Given the description of an element on the screen output the (x, y) to click on. 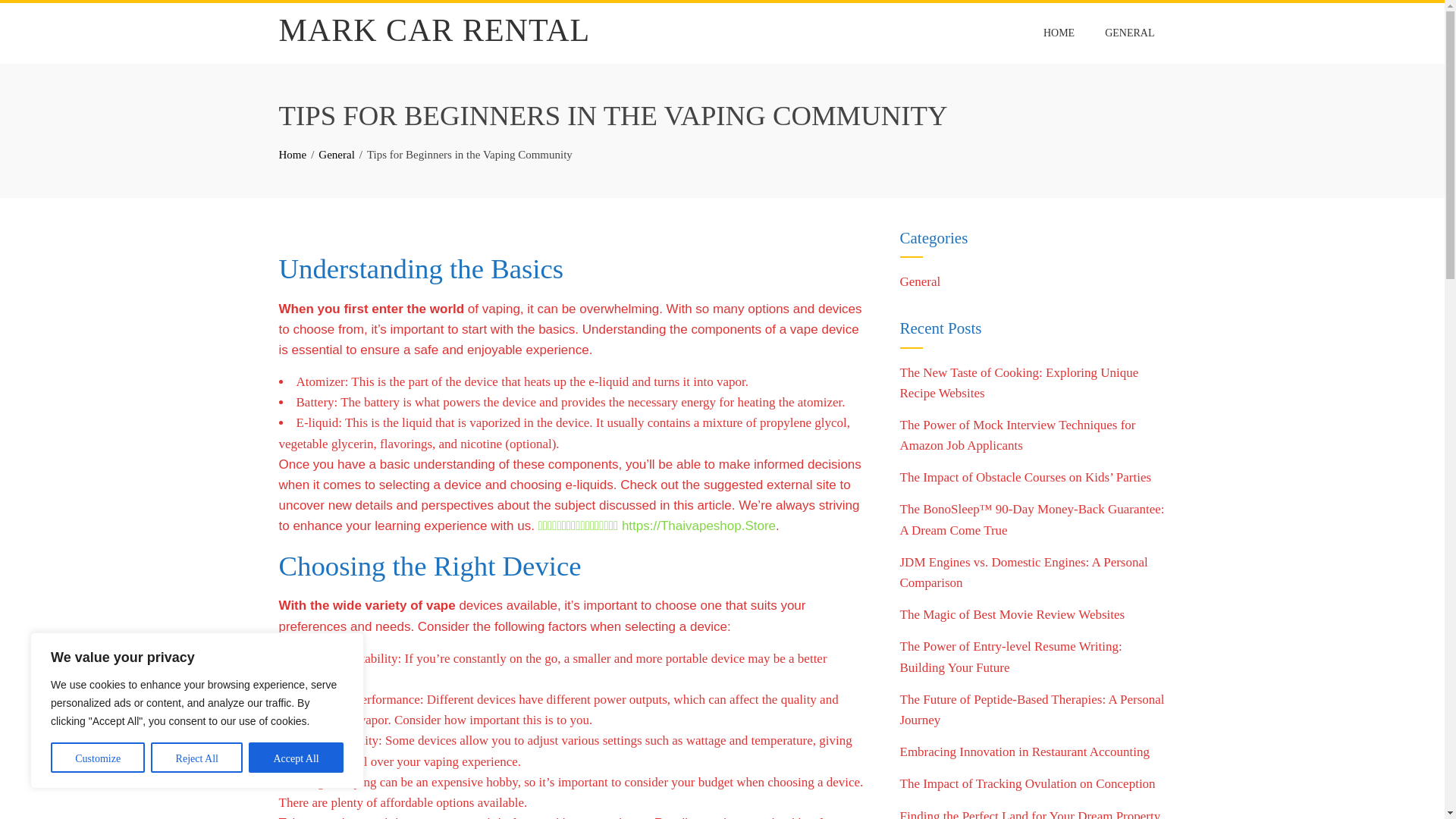
MARK CAR RENTAL (435, 30)
General (335, 154)
Home (293, 154)
JDM Engines vs. Domestic Engines: A Personal Comparison (1023, 572)
Embracing Innovation in Restaurant Accounting (1024, 751)
Customize (97, 757)
Finding the Perfect Land for Your Dream Property in Bali (1029, 814)
The New Taste of Cooking: Exploring Unique Recipe Websites (1018, 382)
The Impact of Tracking Ovulation on Conception (1026, 783)
